Given the description of an element on the screen output the (x, y) to click on. 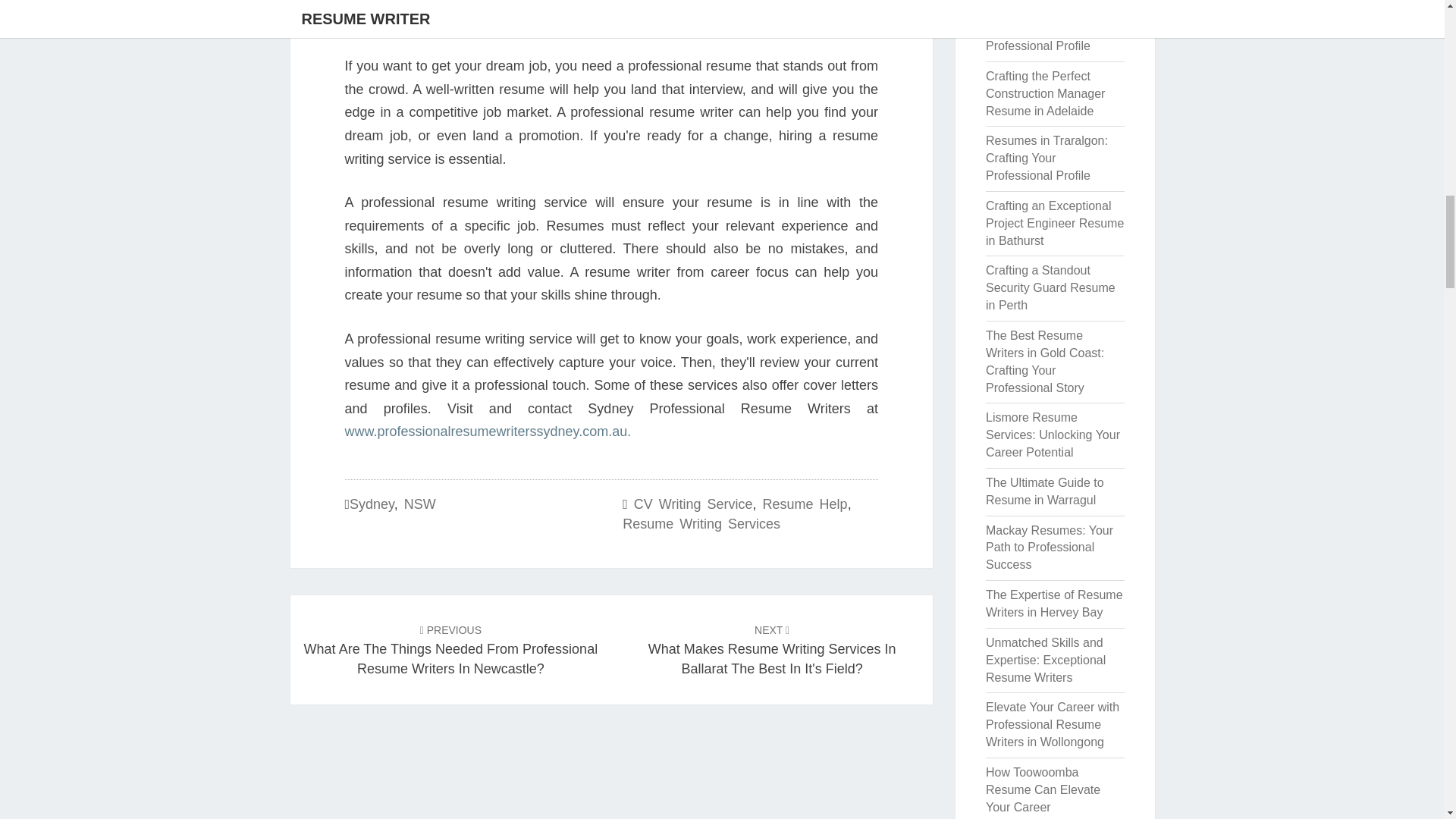
The Expertise of Resume Writers in Hervey Bay (1053, 603)
CV Writing Service (692, 503)
Sydney (371, 503)
Crafting the Perfect Construction Manager Resume in Adelaide (1045, 93)
www.professionalresumewriterssydney.com.au. (486, 431)
Resume Help (804, 503)
NSW (419, 503)
The Ultimate Guide to Resume in Warragul (1044, 490)
